Given the description of an element on the screen output the (x, y) to click on. 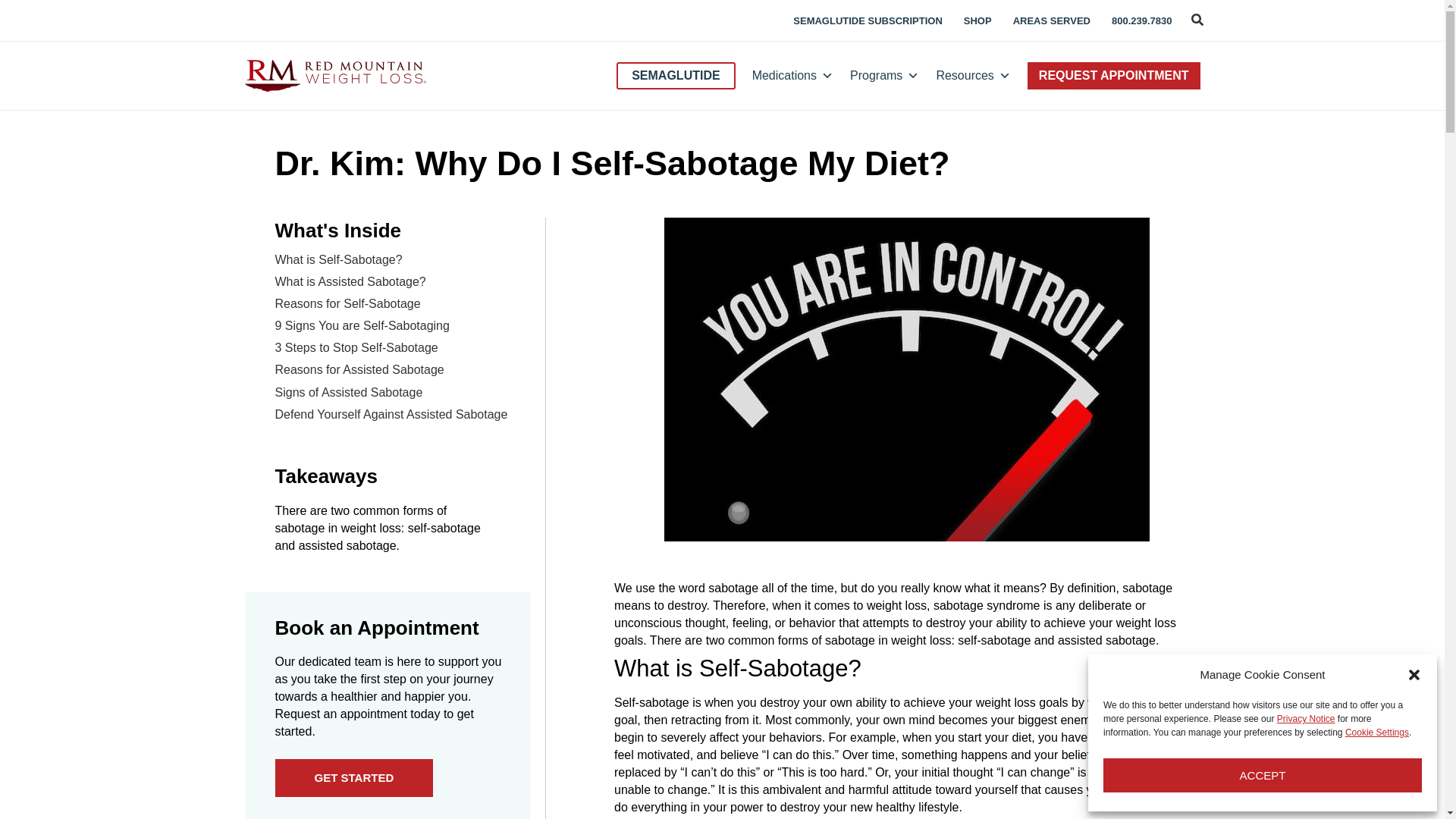
800.239.7830 (1142, 20)
Privacy Notice (1305, 718)
Page 1 (906, 753)
Cookie Settings (1377, 732)
AREAS SERVED (1051, 20)
Programs (884, 75)
Page 1 (906, 614)
ACCEPT (1262, 775)
SEMAGLUTIDE (675, 75)
Medications (792, 75)
SHOP (977, 20)
SEMAGLUTIDE SUBSCRIPTION (825, 20)
